Given the description of an element on the screen output the (x, y) to click on. 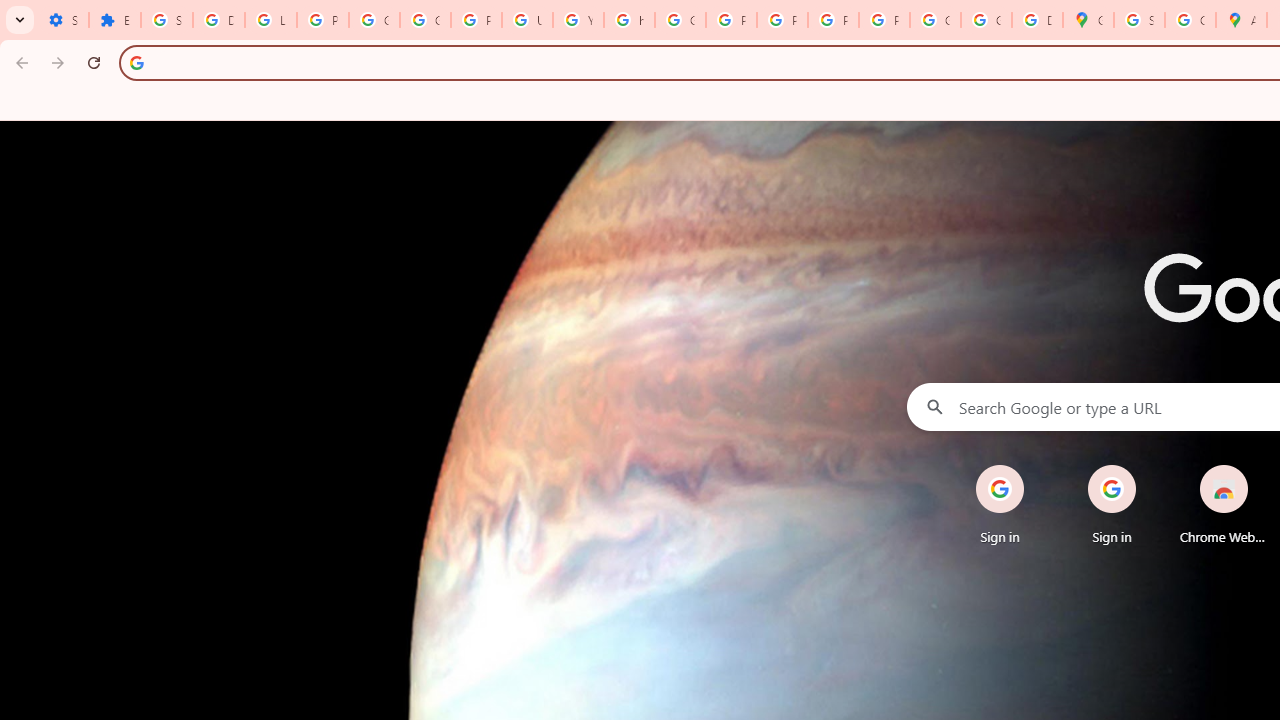
Privacy Help Center - Policies Help (731, 20)
Extensions (114, 20)
Learn how to find your photos - Google Photos Help (270, 20)
Google Account Help (374, 20)
Sign in (1111, 504)
Remove (1263, 466)
Google Account Help (424, 20)
